Given the description of an element on the screen output the (x, y) to click on. 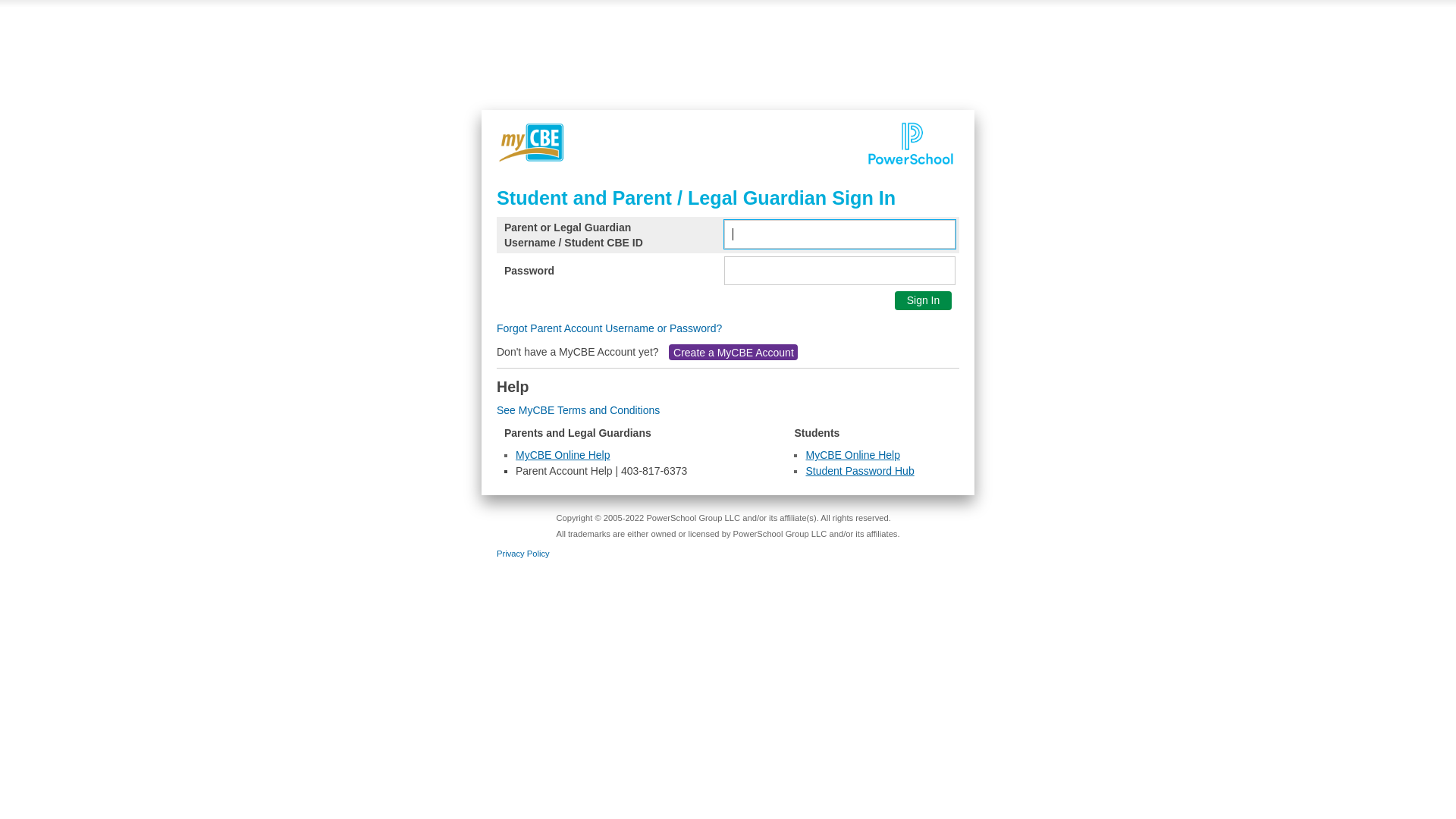
Sign In Element type: text (922, 300)
Forgot Parent Account Username or Password? Element type: text (608, 328)
Create a MyCBE Account Element type: text (732, 352)
Privacy Policy Element type: text (522, 553)
MyCBE Online Help Element type: text (852, 454)
Student Password Hub Element type: text (859, 470)
MyCBE Online Help Element type: text (562, 454)
See MyCBE Terms and Conditions Element type: text (577, 410)
